Given the description of an element on the screen output the (x, y) to click on. 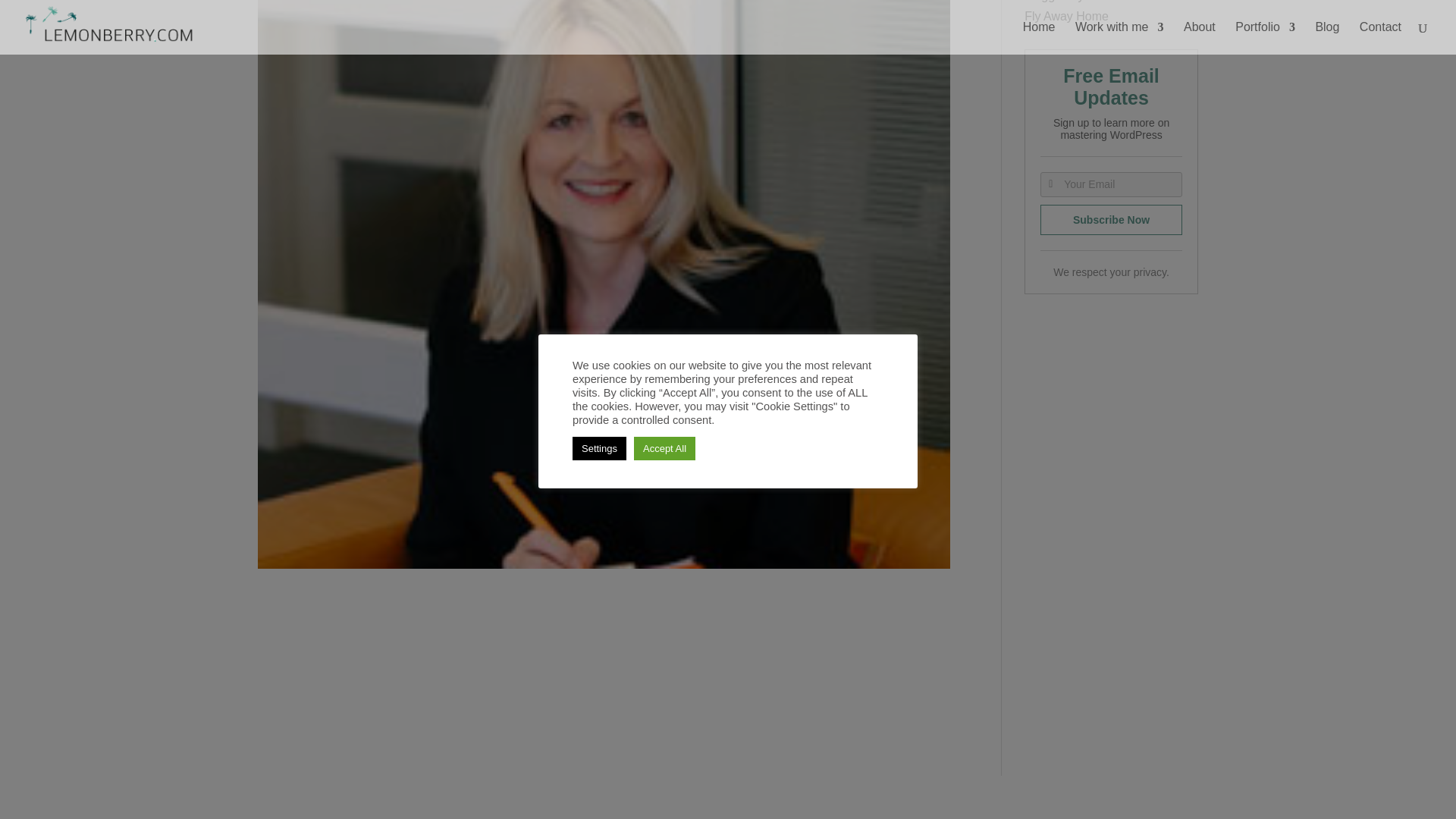
Accept All (664, 155)
Subscribe Now (1111, 219)
Maggie Myklebust (1073, 1)
Subscribe Now (1111, 219)
Latest on Fly Away Home (1108, 11)
Settings (599, 155)
